Given the description of an element on the screen output the (x, y) to click on. 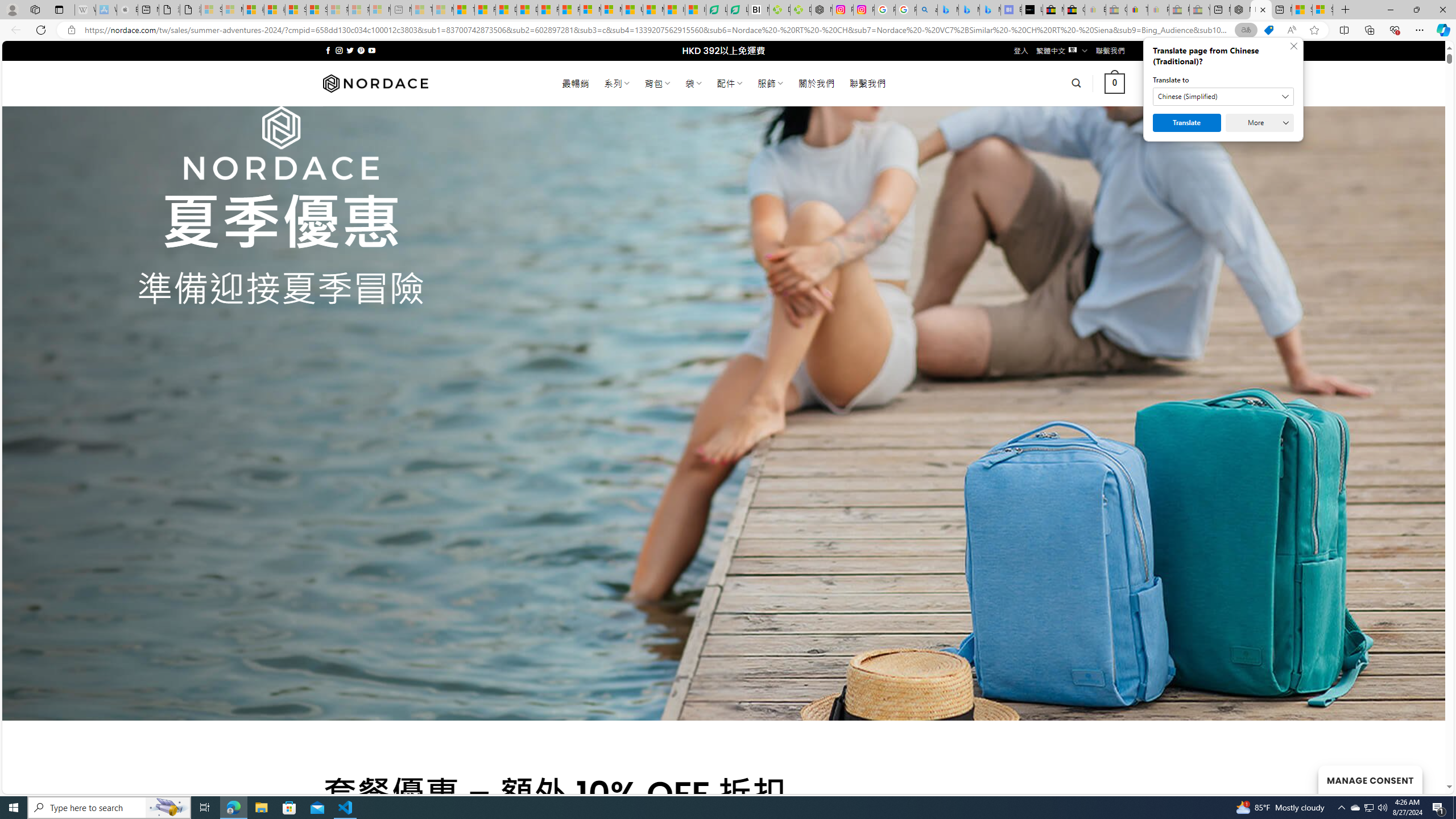
Microsoft Bing Travel - Shangri-La Hotel Bangkok (990, 9)
Press Room - eBay Inc. - Sleeping (1178, 9)
Top Stories - MSN - Sleeping (421, 9)
Follow on YouTube (371, 50)
Wikipedia - Sleeping (84, 9)
Microsoft Services Agreement - Sleeping (231, 9)
